Given the description of an element on the screen output the (x, y) to click on. 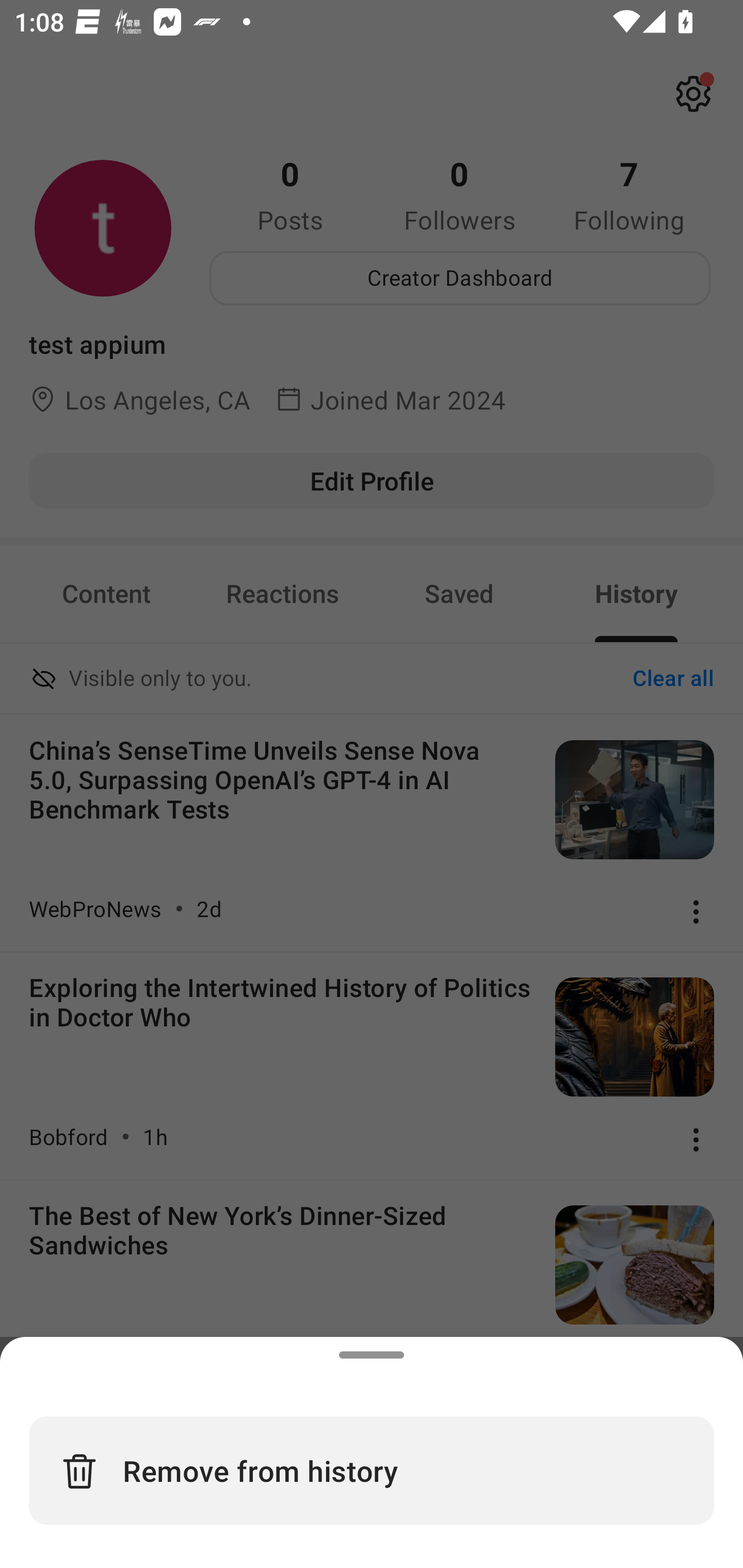
Remove from history (371, 1469)
